Given the description of an element on the screen output the (x, y) to click on. 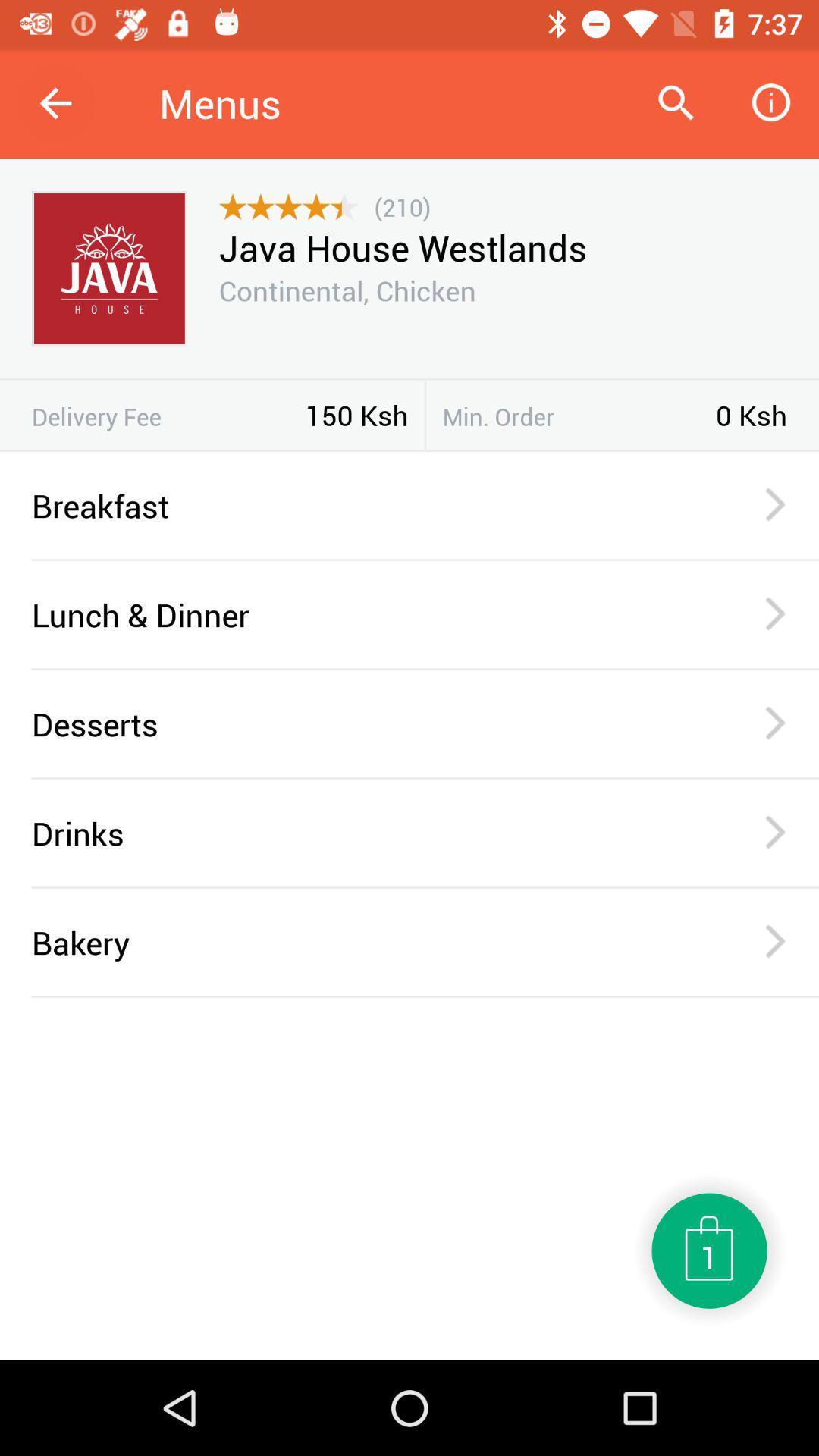
launch item above desserts (425, 669)
